Given the description of an element on the screen output the (x, y) to click on. 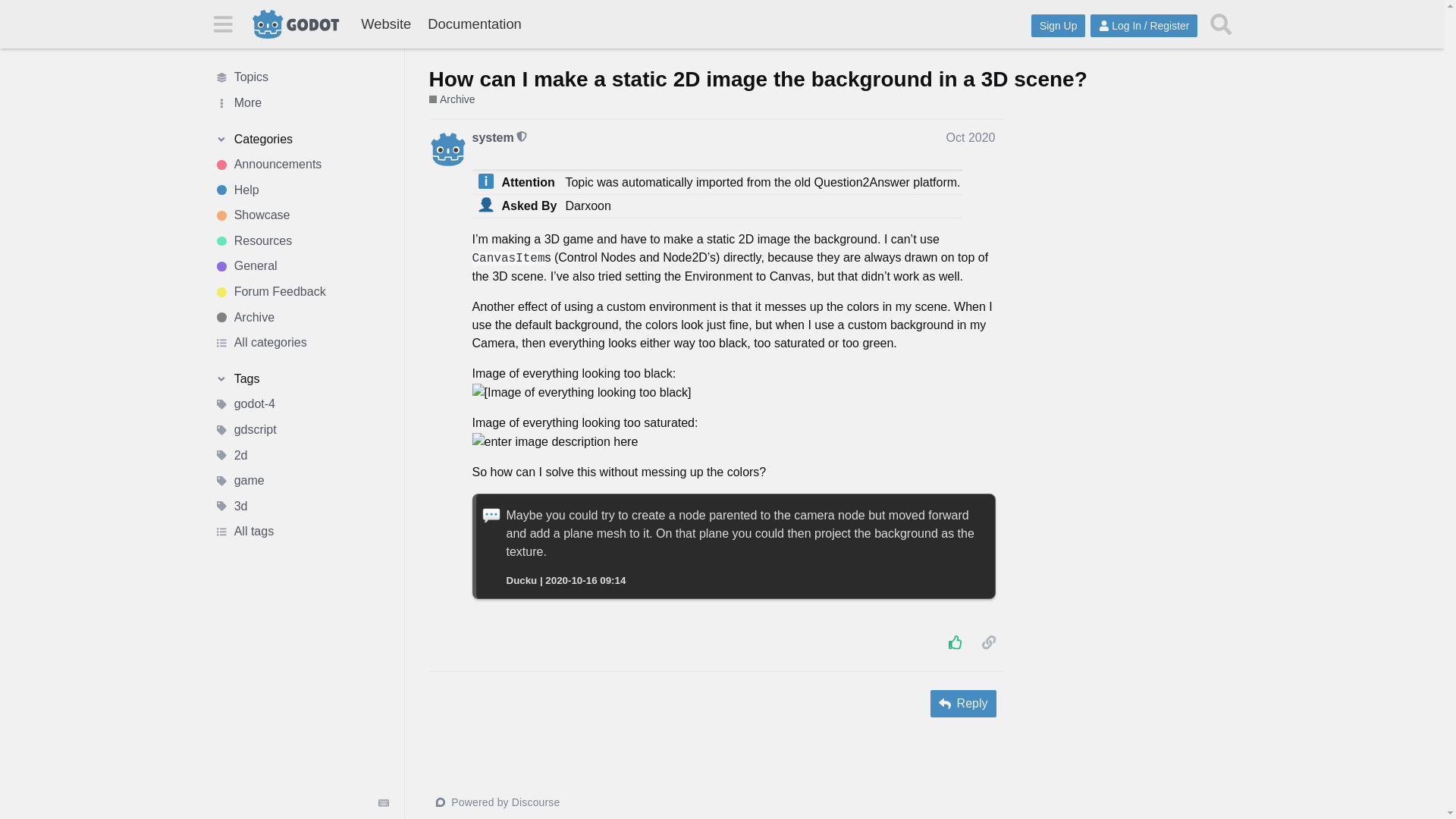
Powered by Discourse (499, 802)
Topics (301, 77)
Categories (301, 139)
Forum Feedback (301, 291)
Website (385, 23)
Help (301, 190)
More (301, 103)
Announcements (301, 164)
Go to the Godot Documentation (474, 23)
Toggle section (301, 139)
